Given the description of an element on the screen output the (x, y) to click on. 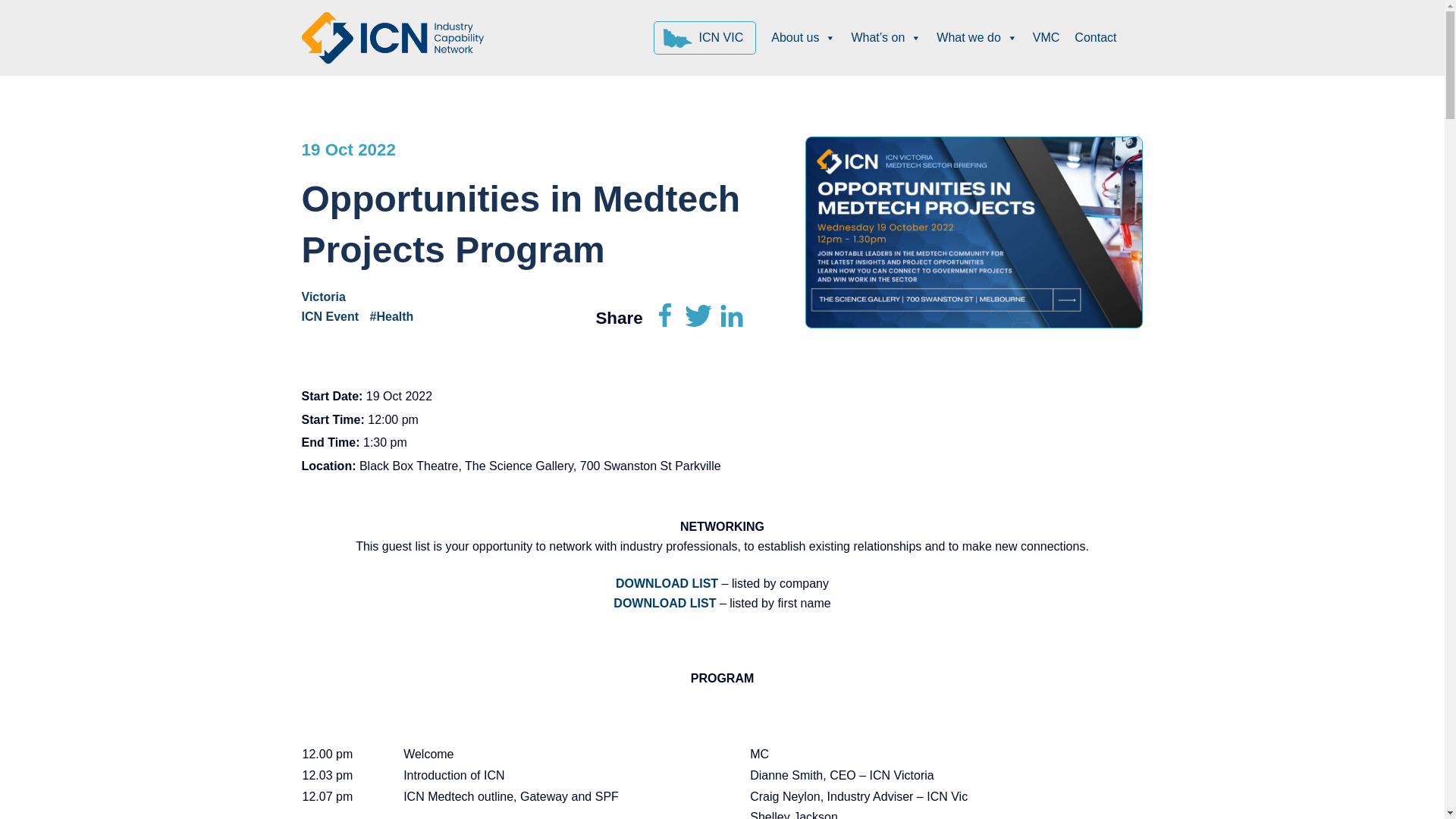
DOWNLOAD LIST (666, 583)
What we do (976, 37)
Victoria (327, 296)
Go to ICN VIC Homepage (705, 37)
ICN Event (333, 316)
VMC (1046, 37)
About us (802, 37)
Contact (1095, 37)
DOWNLOAD LIST (664, 603)
Go to ICN Homepage (392, 36)
